Given the description of an element on the screen output the (x, y) to click on. 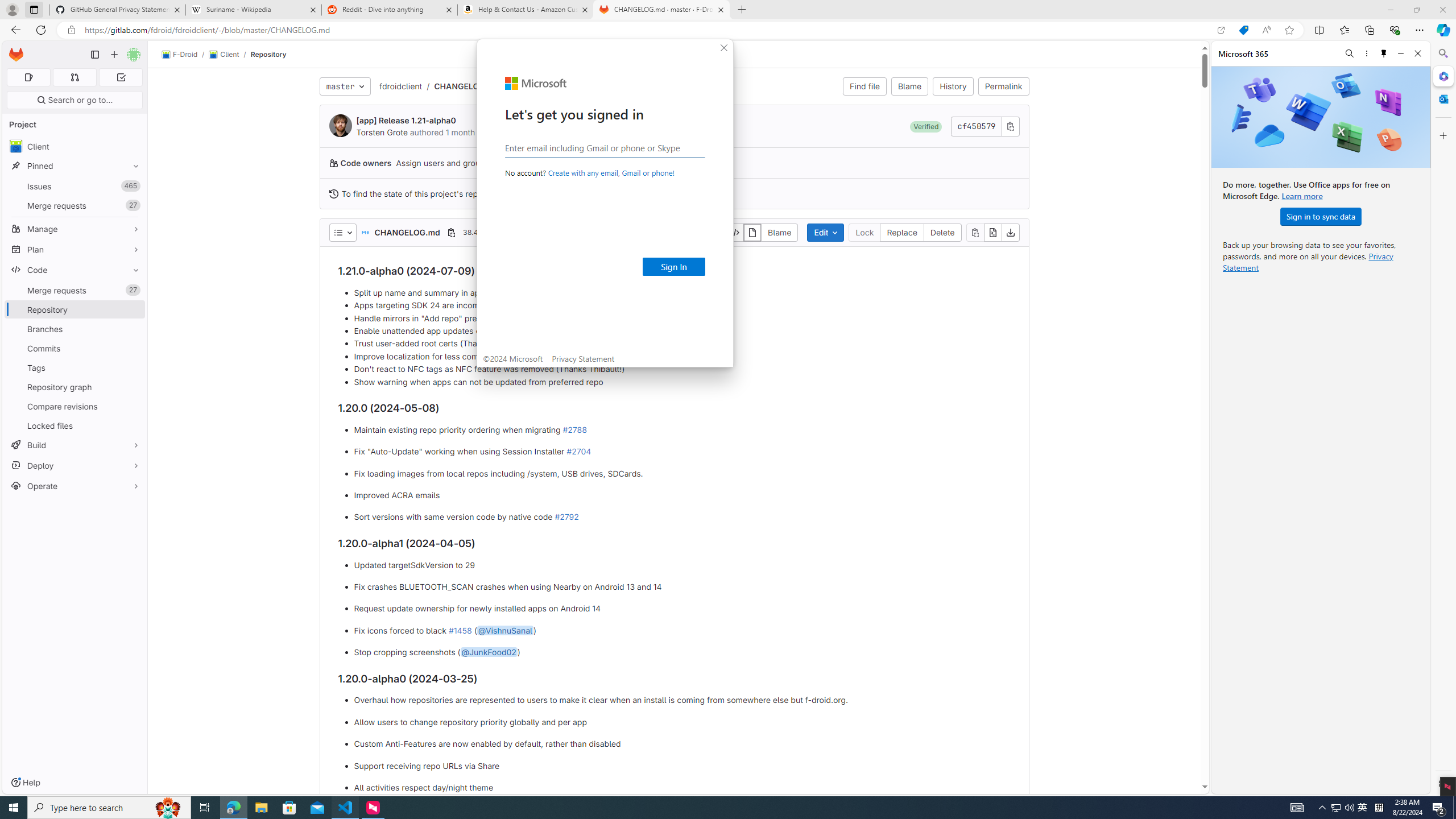
Ln 246, Col 58 (1235, 789)
Run and Debug (Ctrl+Shift+D) (13, 115)
Title actions (1347, 9)
Go Forward (Alt+RightArrow) (560, 9)
Manage (13, 755)
